Given the description of an element on the screen output the (x, y) to click on. 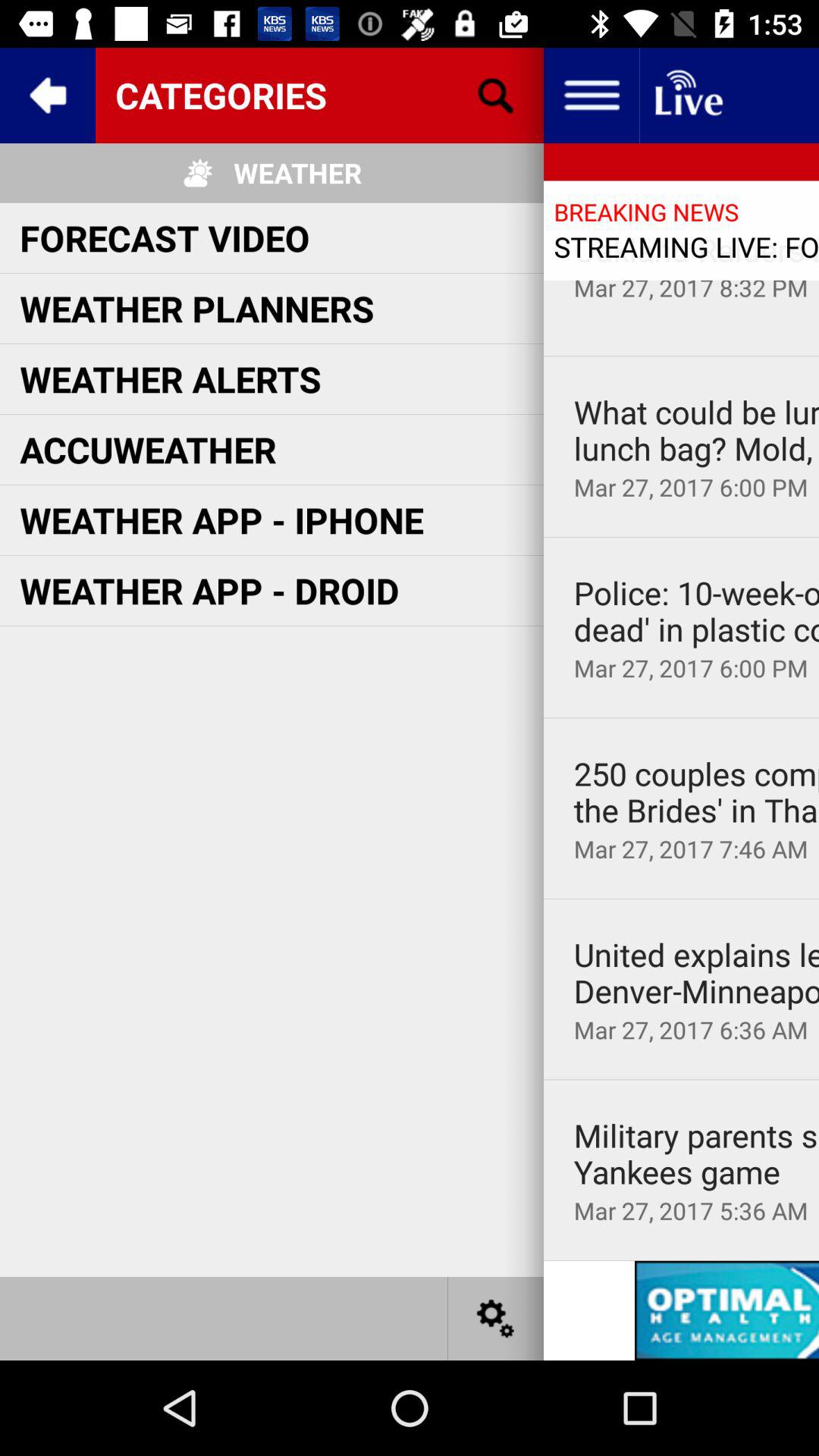
select item next to weather planners icon (696, 249)
